Given the description of an element on the screen output the (x, y) to click on. 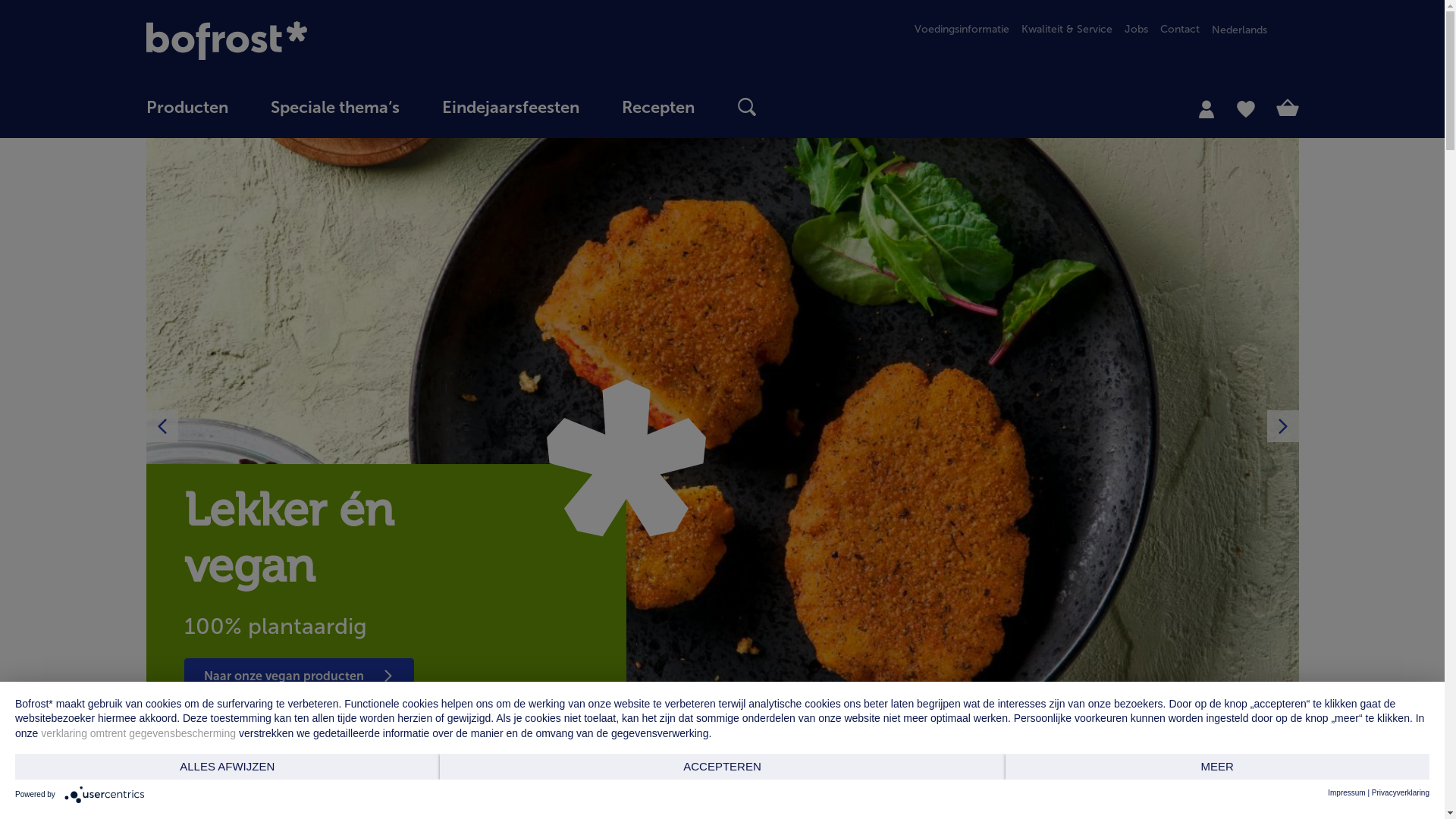
Nederlands Element type: text (1255, 29)
verklaring omtrent gegevensbescherming Element type: text (139, 733)
Recepten Element type: text (657, 107)
Mijn verlanglijstjes Element type: hover (1245, 108)
Eindejaarsfeesten Element type: text (509, 107)
Naar onze vegan producten Element type: text (842, 677)
Contact Element type: text (1173, 29)
Jobs Element type: text (1129, 29)
Kwaliteit & Service Element type: text (1059, 29)
ALLES AFWIJZEN Element type: text (227, 766)
ACCEPTEREN Element type: text (722, 766)
Producten Element type: text (186, 107)
Impressum Element type: text (1346, 792)
Mijn bofrost* Element type: hover (1205, 108)
Voedingsinformatie Element type: text (955, 29)
MEER Element type: text (1217, 766)
Privacyverklaring Element type: text (1400, 792)
